Given the description of an element on the screen output the (x, y) to click on. 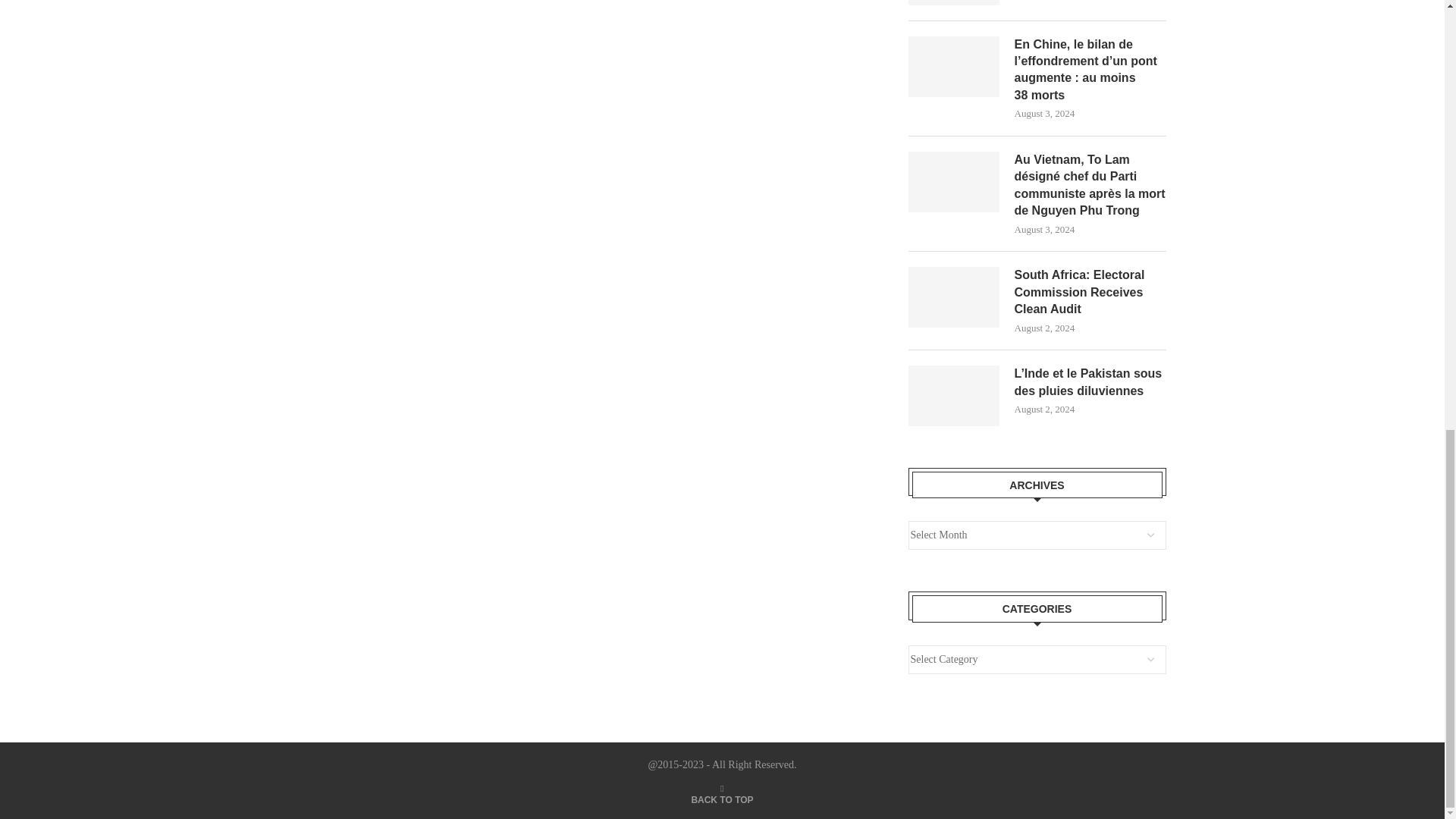
South Africa: Electoral Commission Receives Clean Audit (1090, 291)
South Africa: Electoral Commission Receives Clean Audit (953, 296)
